Given the description of an element on the screen output the (x, y) to click on. 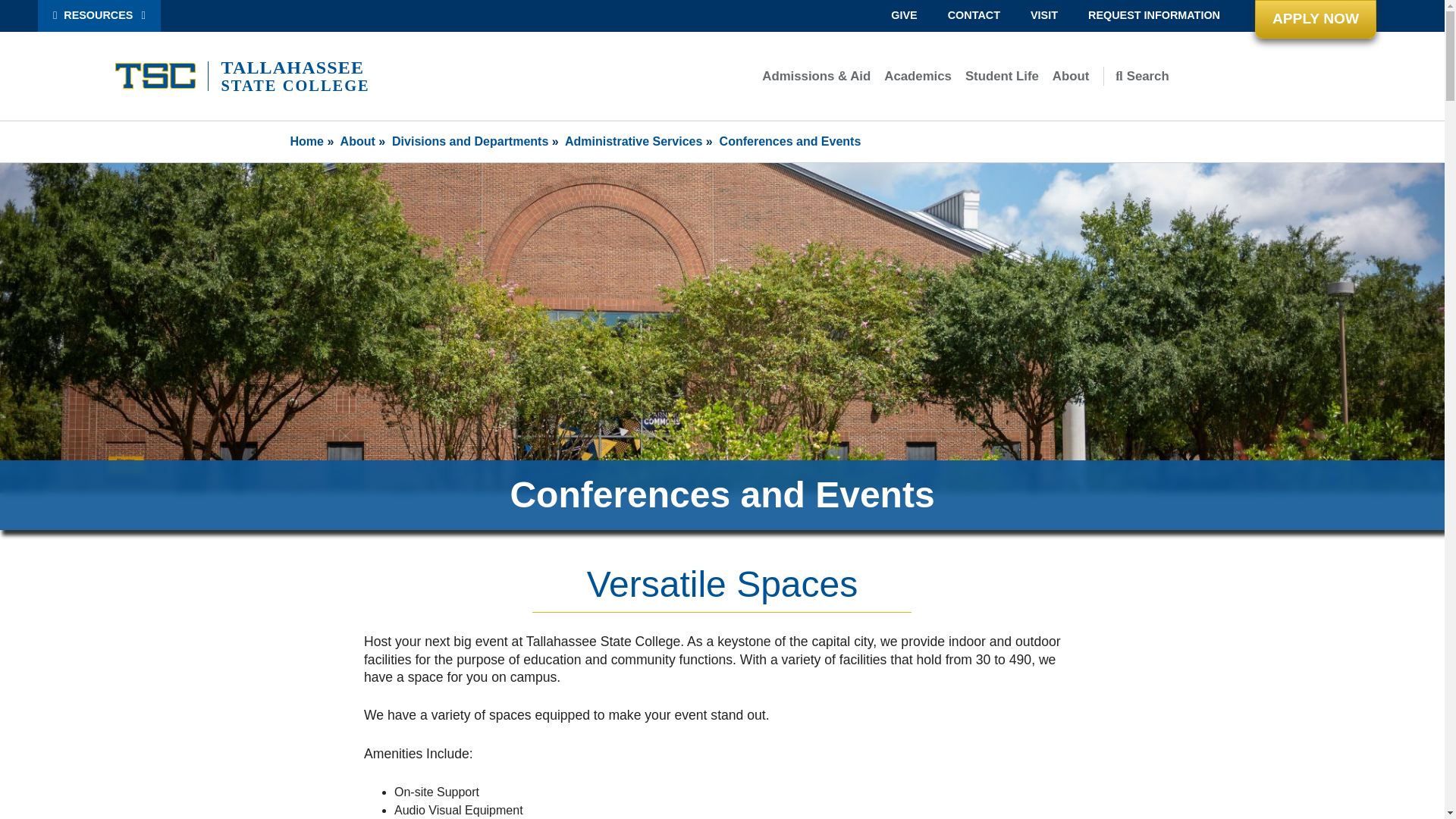
REQUEST INFORMATION (1153, 15)
RESOURCES (98, 15)
VISIT (1043, 15)
GIVE (903, 15)
CONTACT (973, 15)
APPLY NOW (1315, 19)
